Given the description of an element on the screen output the (x, y) to click on. 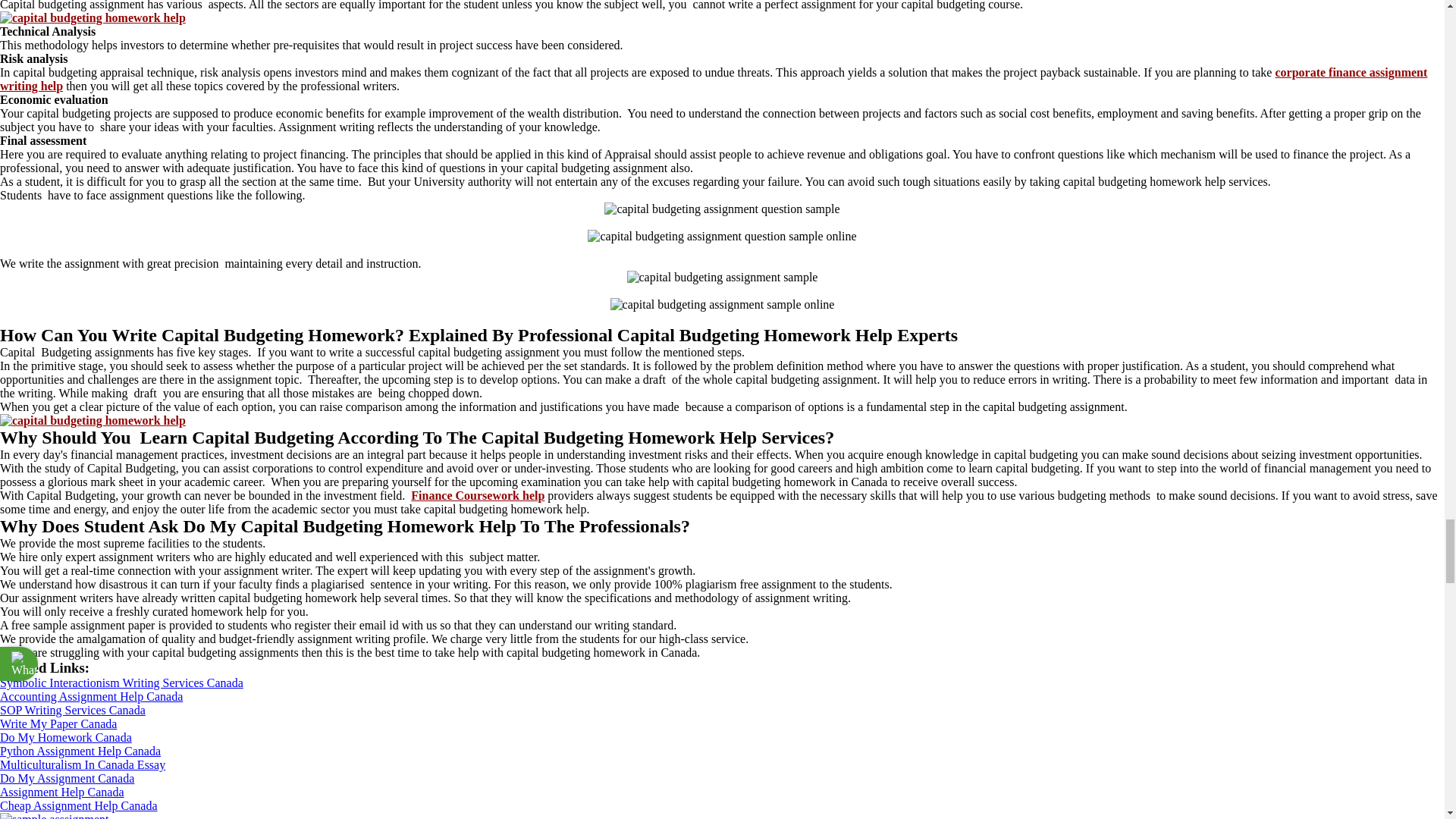
Need Assignment Solution on Capital Budgeting? Buy Now! (93, 420)
Need Authentic Assignments on Capital Budgeting? Order Now (93, 18)
